Given the description of an element on the screen output the (x, y) to click on. 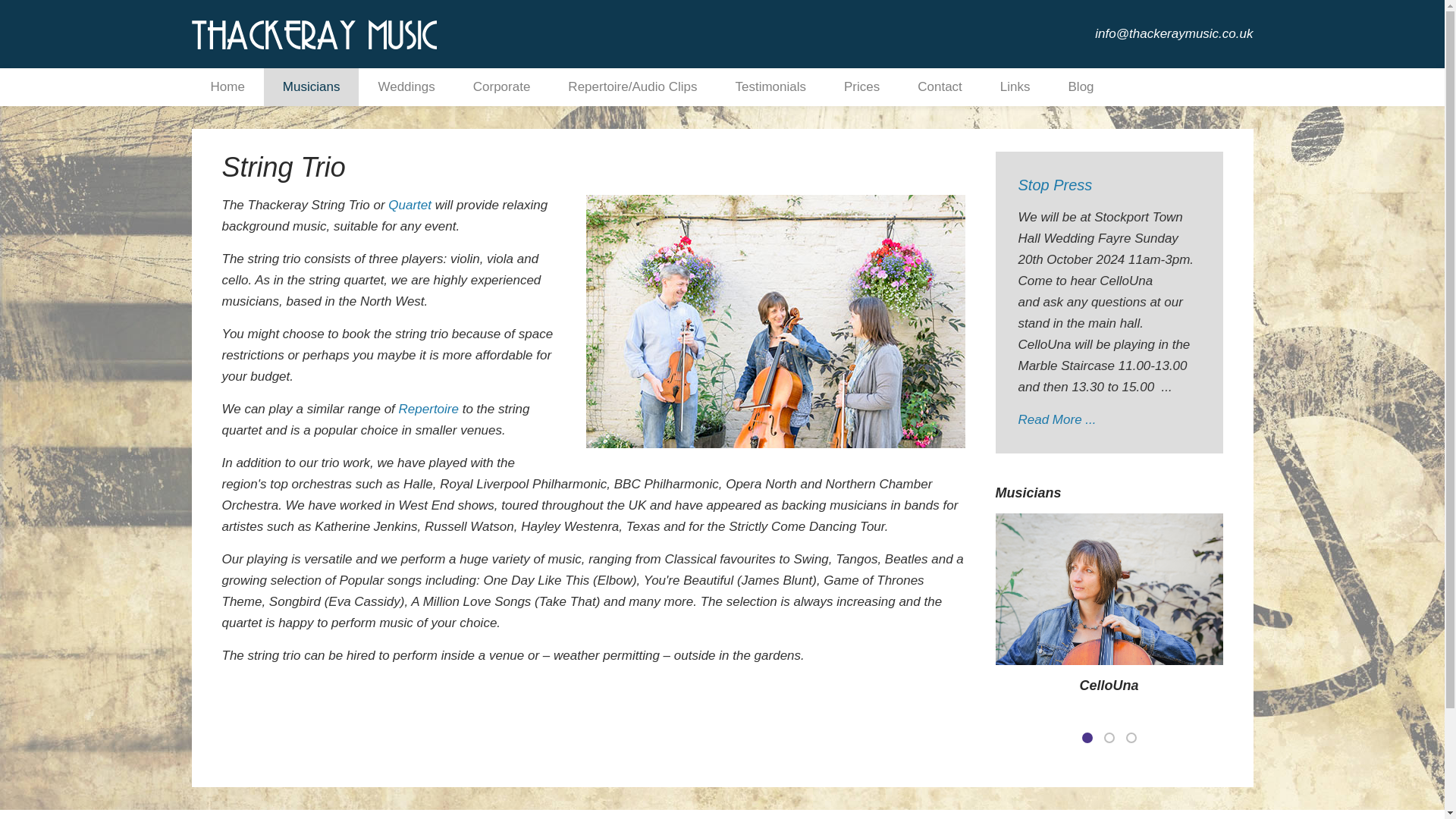
Read More ... (1056, 419)
Musicians (311, 86)
Repertoire (428, 409)
Home (226, 86)
Prices (861, 86)
Testimonials (770, 86)
Corporate (502, 86)
CelloUna (1108, 685)
Quartet (409, 205)
Blog (1081, 86)
